Given the description of an element on the screen output the (x, y) to click on. 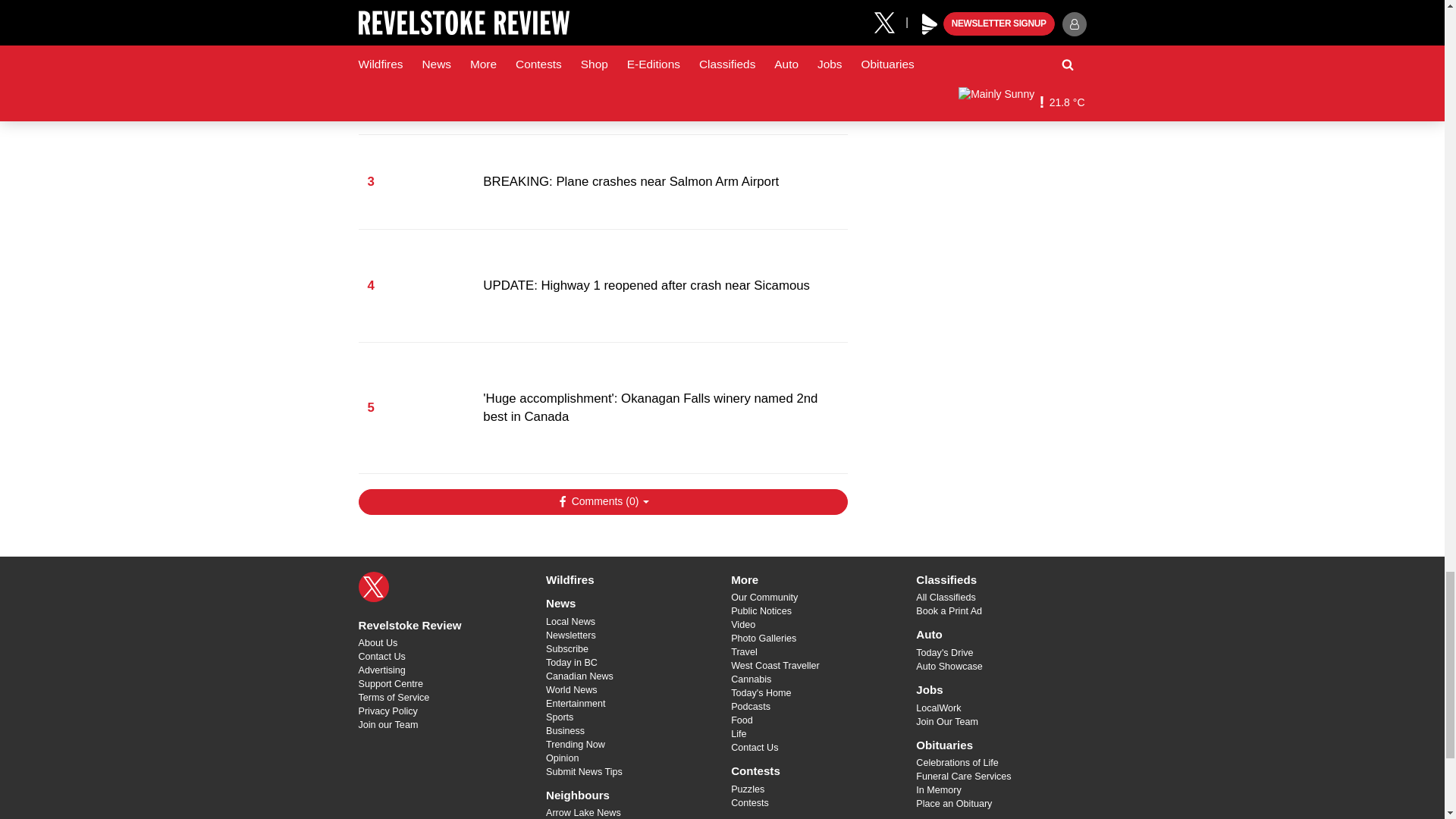
Show Comments (602, 501)
X (373, 586)
